Given the description of an element on the screen output the (x, y) to click on. 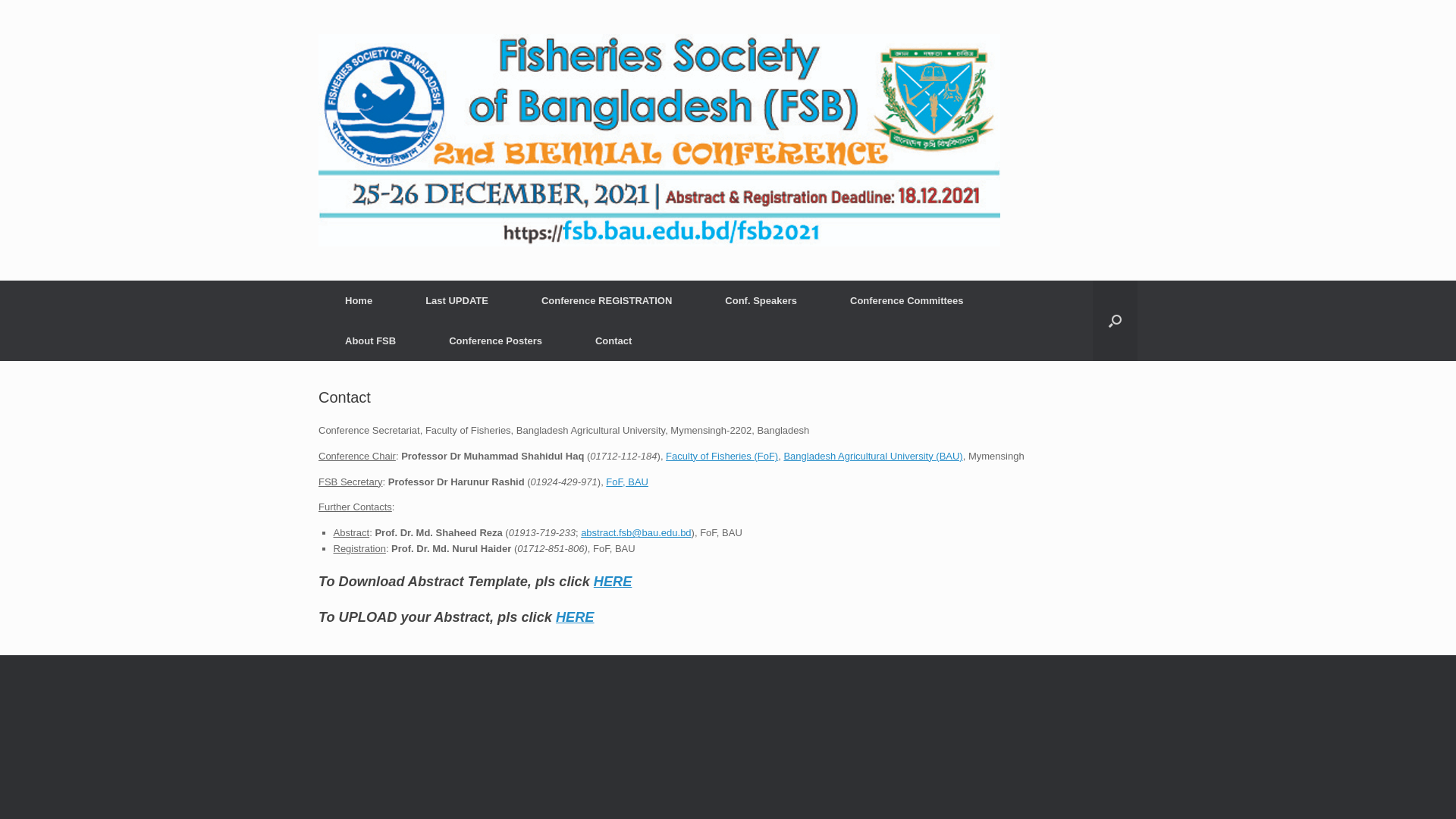
Conference REGISTRATION Element type: text (606, 300)
Contact Element type: text (613, 340)
Home Element type: text (358, 300)
Faculty of Fisheries (FoF) Element type: text (721, 455)
FoF, BAU Element type: text (626, 481)
Conference Committees Element type: text (906, 300)
HERE Element type: text (612, 581)
Bangladesh Agricultural University (BAU) Element type: text (872, 455)
HERE Element type: text (574, 616)
Conf. Speakers Element type: text (760, 300)
Last UPDATE Element type: text (456, 300)
Conference Posters Element type: text (495, 340)
About FSB Element type: text (370, 340)
abstract.fsb@bau.edu.bd Element type: text (635, 532)
